Given the description of an element on the screen output the (x, y) to click on. 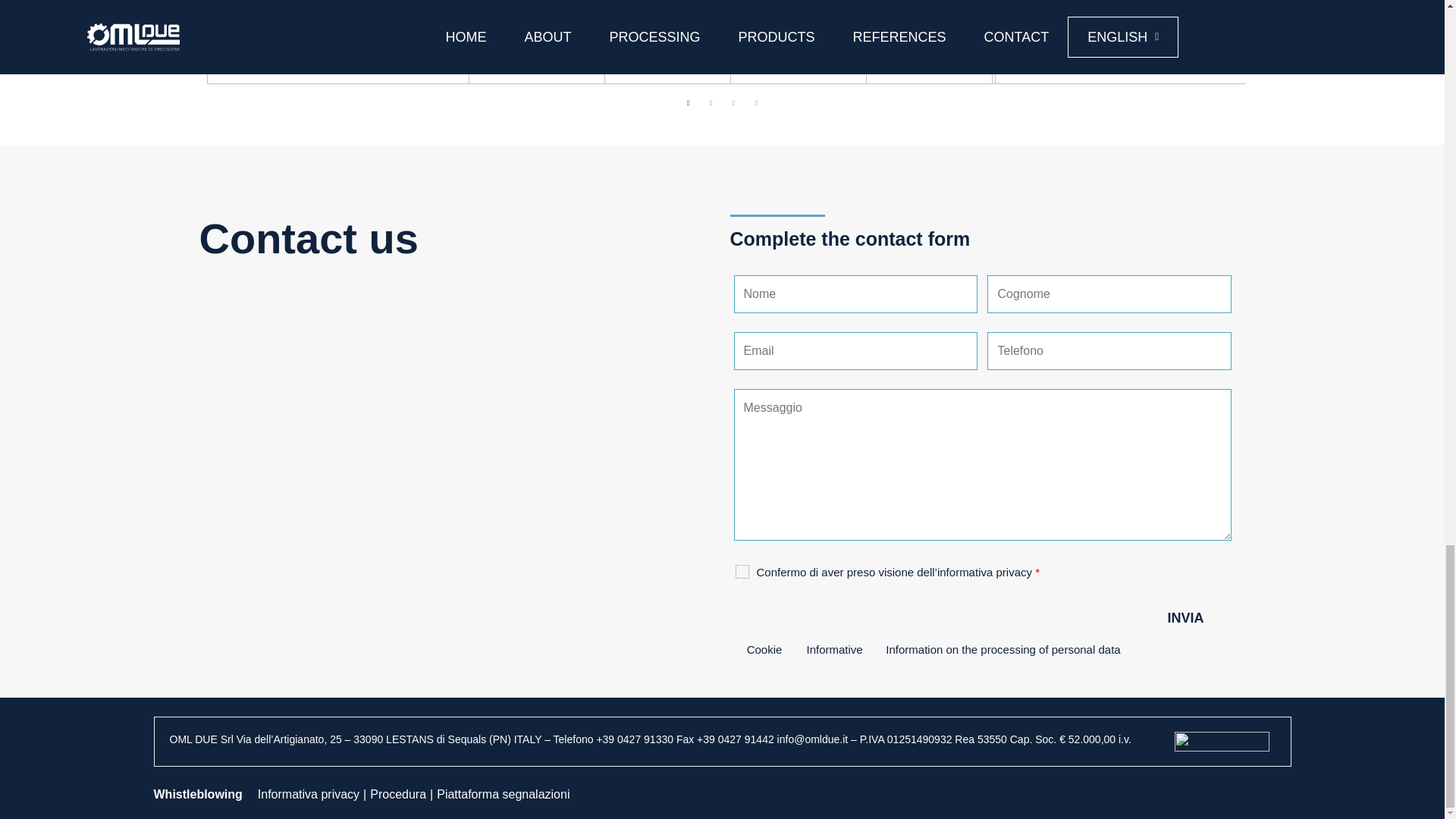
INVIA (1204, 617)
